Given the description of an element on the screen output the (x, y) to click on. 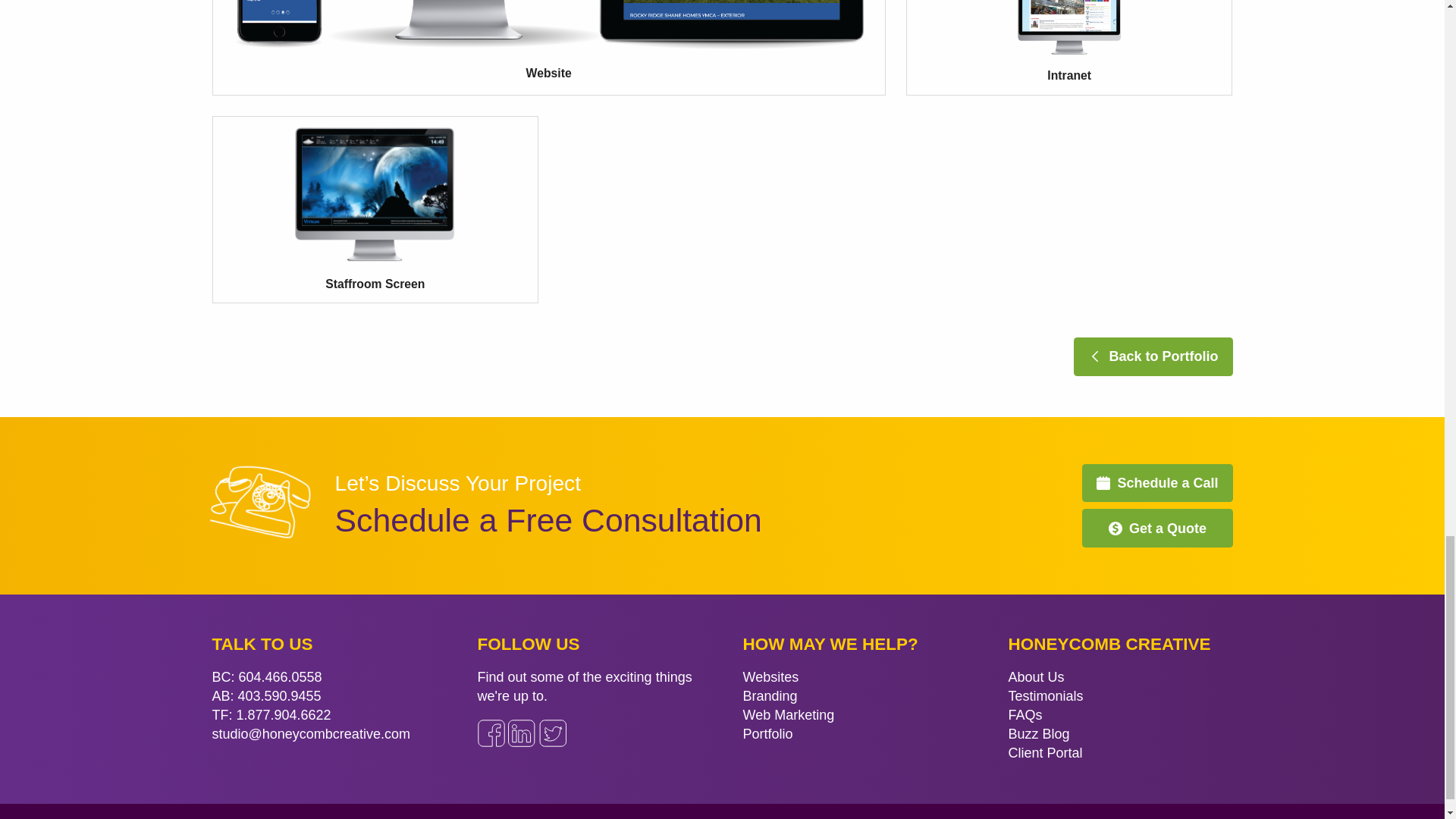
Get a Quote (1156, 527)
Back to Portfolio (1152, 356)
Follow us on Twitter (552, 732)
Follow us on Facebook (491, 732)
Follow us on LinkedIn (521, 732)
Schedule a Call (1156, 483)
